Given the description of an element on the screen output the (x, y) to click on. 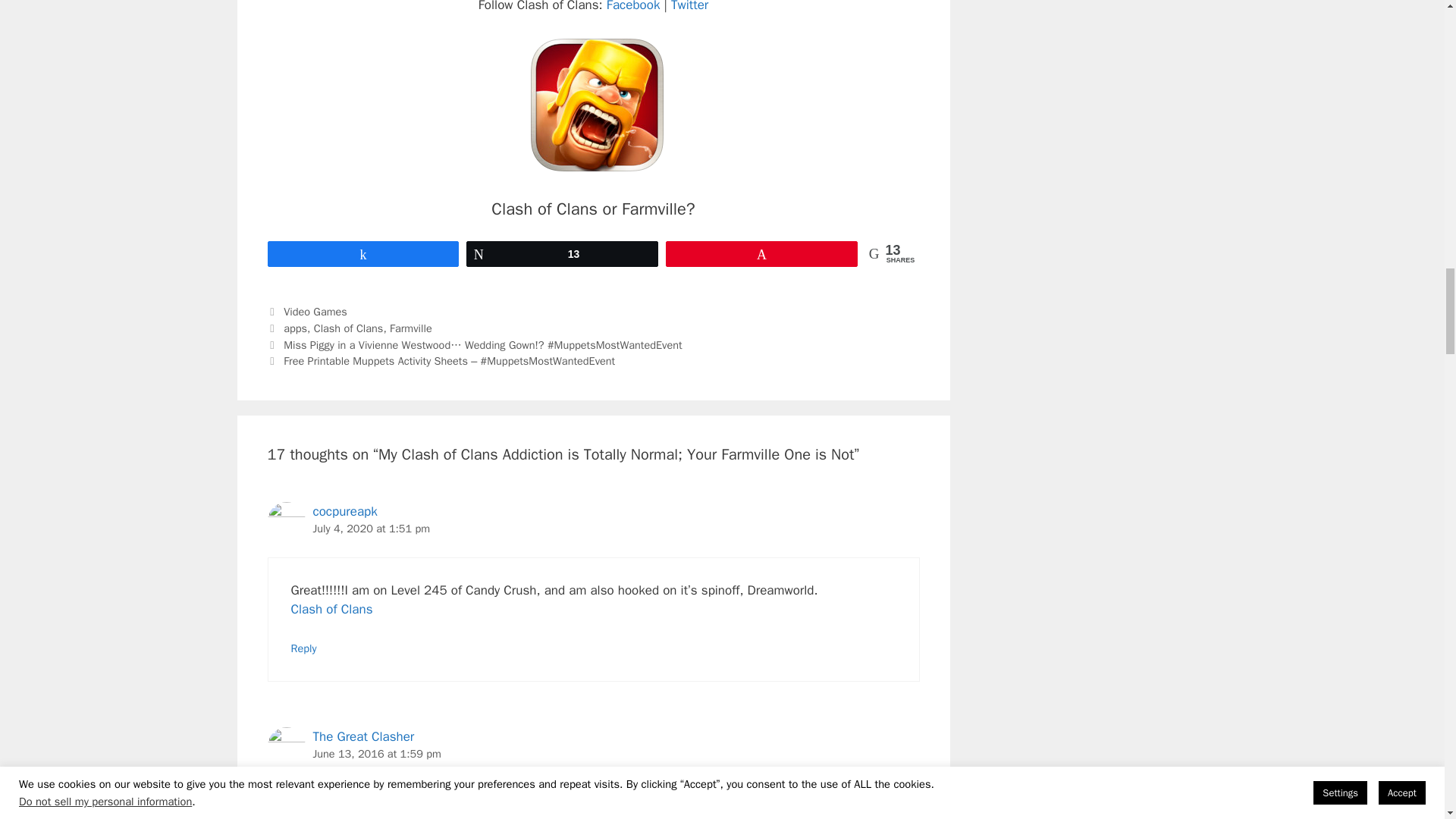
Farmville (411, 327)
Twitter (689, 6)
apps (295, 327)
Video Games (315, 311)
Facebook (635, 6)
Clash of Clans (349, 327)
13 (562, 252)
